Given the description of an element on the screen output the (x, y) to click on. 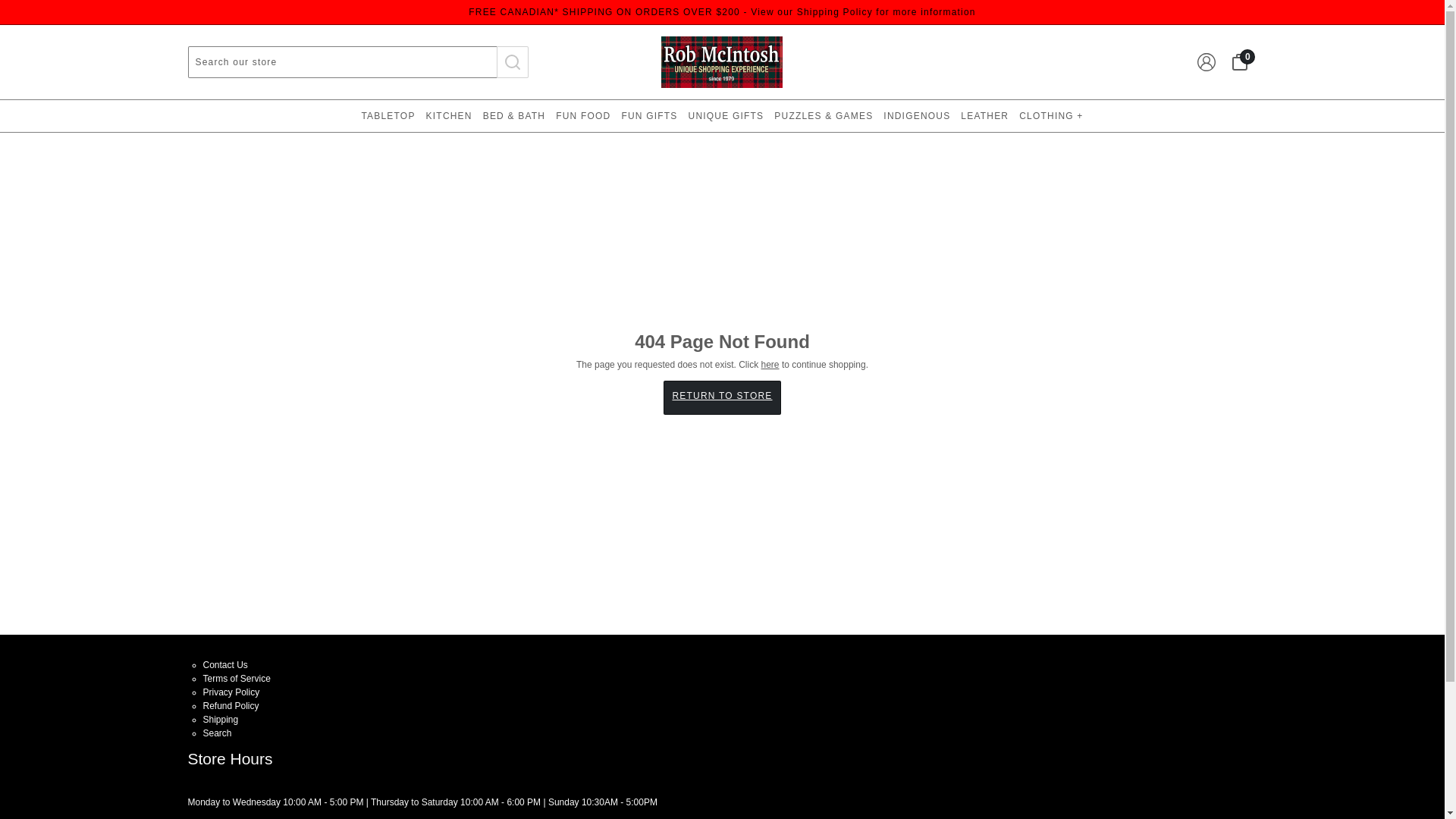
TABLETOP (387, 115)
Contact Us (225, 664)
FUN FOOD (582, 115)
KITCHEN (448, 115)
Terms of Service (236, 678)
LEATHER (984, 115)
0 (1239, 61)
here (769, 364)
FUN GIFTS (648, 115)
INDIGENOUS (916, 115)
RETURN TO STORE (721, 397)
Privacy Policy (231, 692)
UNIQUE GIFTS (726, 115)
